Given the description of an element on the screen output the (x, y) to click on. 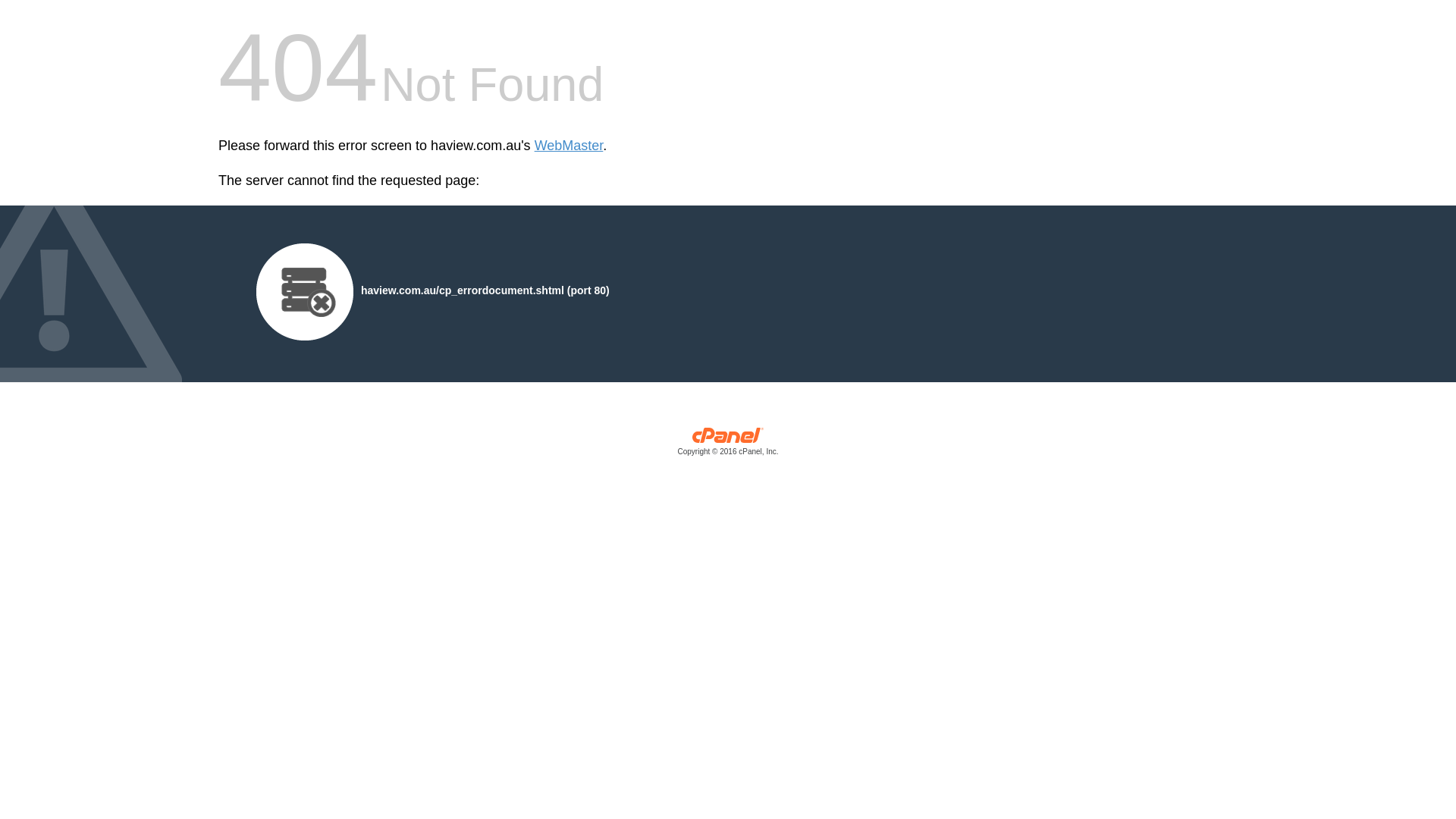
WebMaster Element type: text (568, 145)
